Given the description of an element on the screen output the (x, y) to click on. 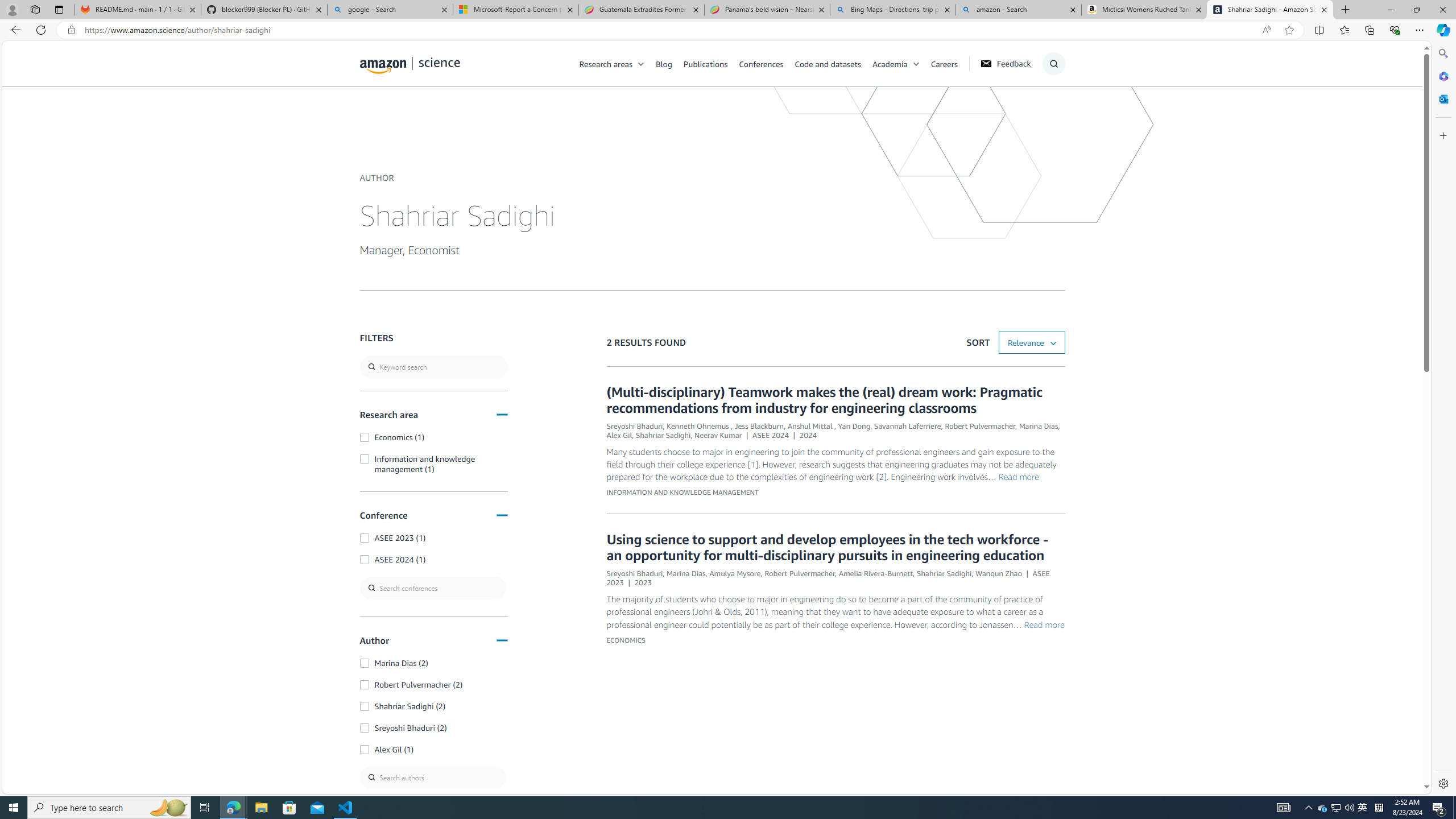
Customize (1442, 135)
Conferences (766, 63)
Publications (710, 63)
Search conferences (432, 587)
Academia (889, 63)
Blog (669, 63)
